Given the description of an element on the screen output the (x, y) to click on. 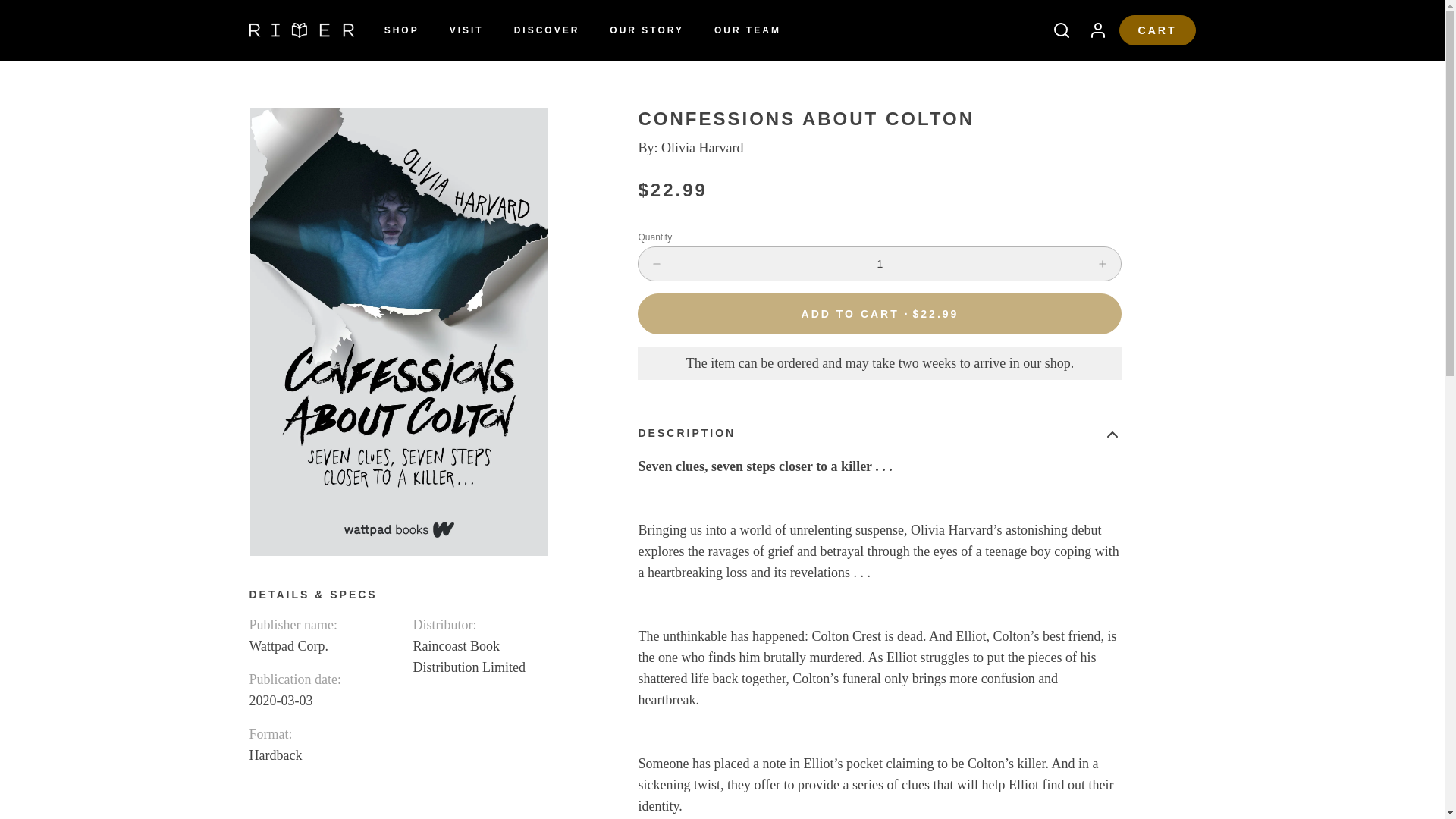
Increase quantity (1102, 263)
River Bookshop (300, 29)
 Log in (1091, 30)
OUR STORY (645, 30)
SHOP (401, 30)
Decrease quantity (657, 263)
DISCOVER (547, 30)
CART (1157, 30)
VISIT (467, 30)
OUR TEAM (747, 30)
